Given the description of an element on the screen output the (x, y) to click on. 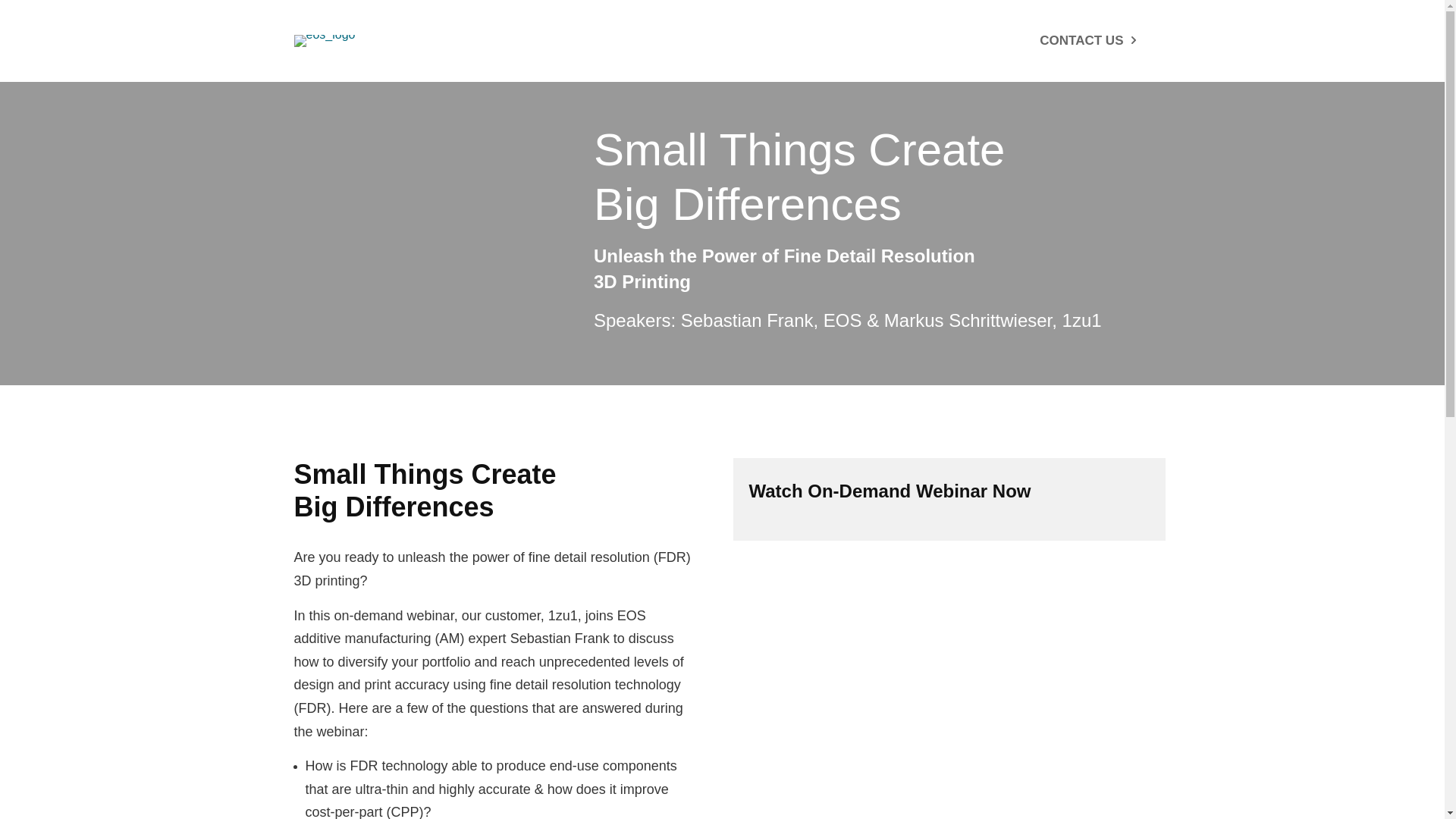
CONTACT US (1086, 41)
